Given the description of an element on the screen output the (x, y) to click on. 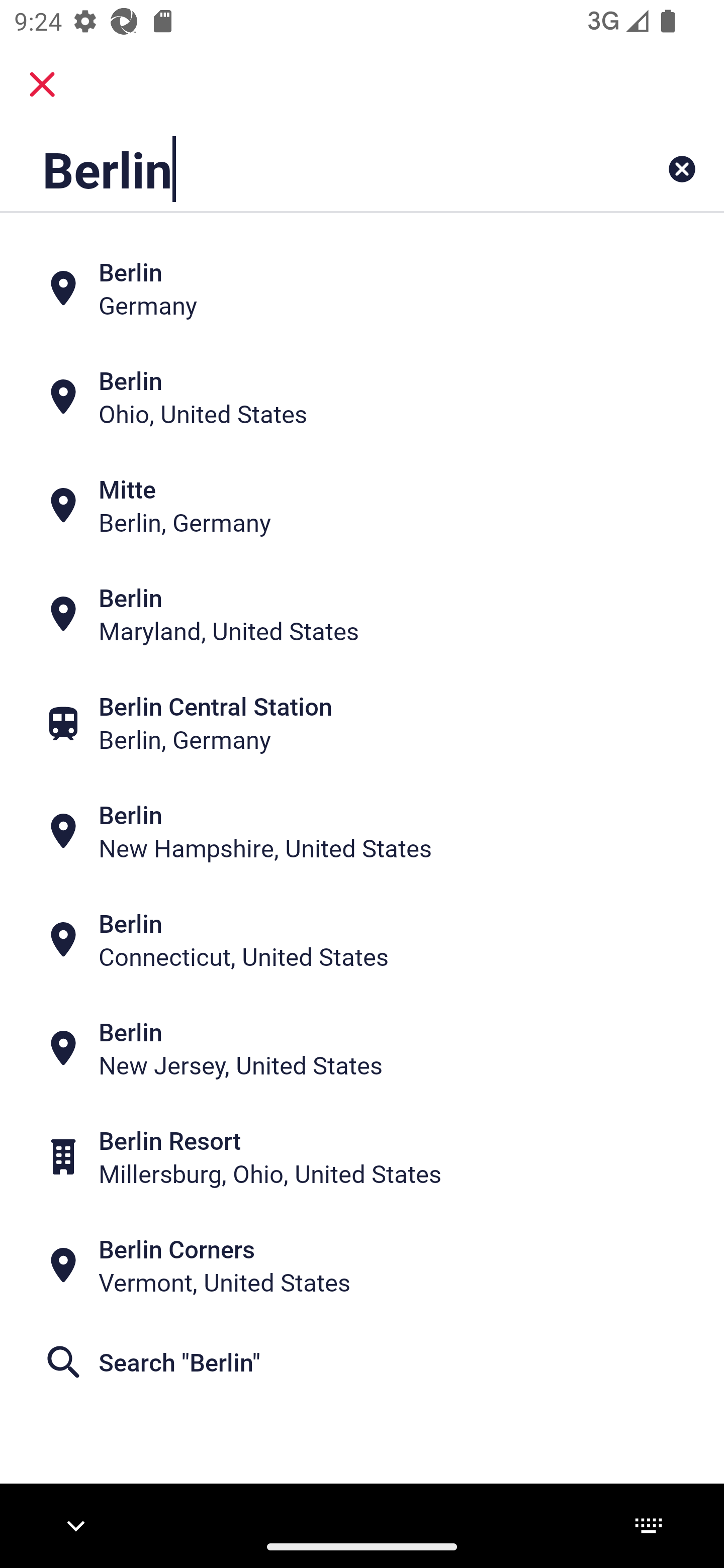
close. (42, 84)
Clear (681, 169)
Berlin (298, 169)
Berlin Germany (362, 288)
Berlin Ohio, United States (362, 397)
Mitte Berlin, Germany (362, 505)
Berlin Maryland, United States (362, 613)
Berlin Central Station Berlin, Germany (362, 722)
Berlin New Hampshire, United States (362, 831)
Berlin Connecticut, United States (362, 939)
Berlin New Jersey, United States (362, 1048)
Berlin Resort Millersburg, Ohio, United States (362, 1156)
Berlin Corners Vermont, United States (362, 1265)
Search "Berlin" (361, 1362)
